Given the description of an element on the screen output the (x, y) to click on. 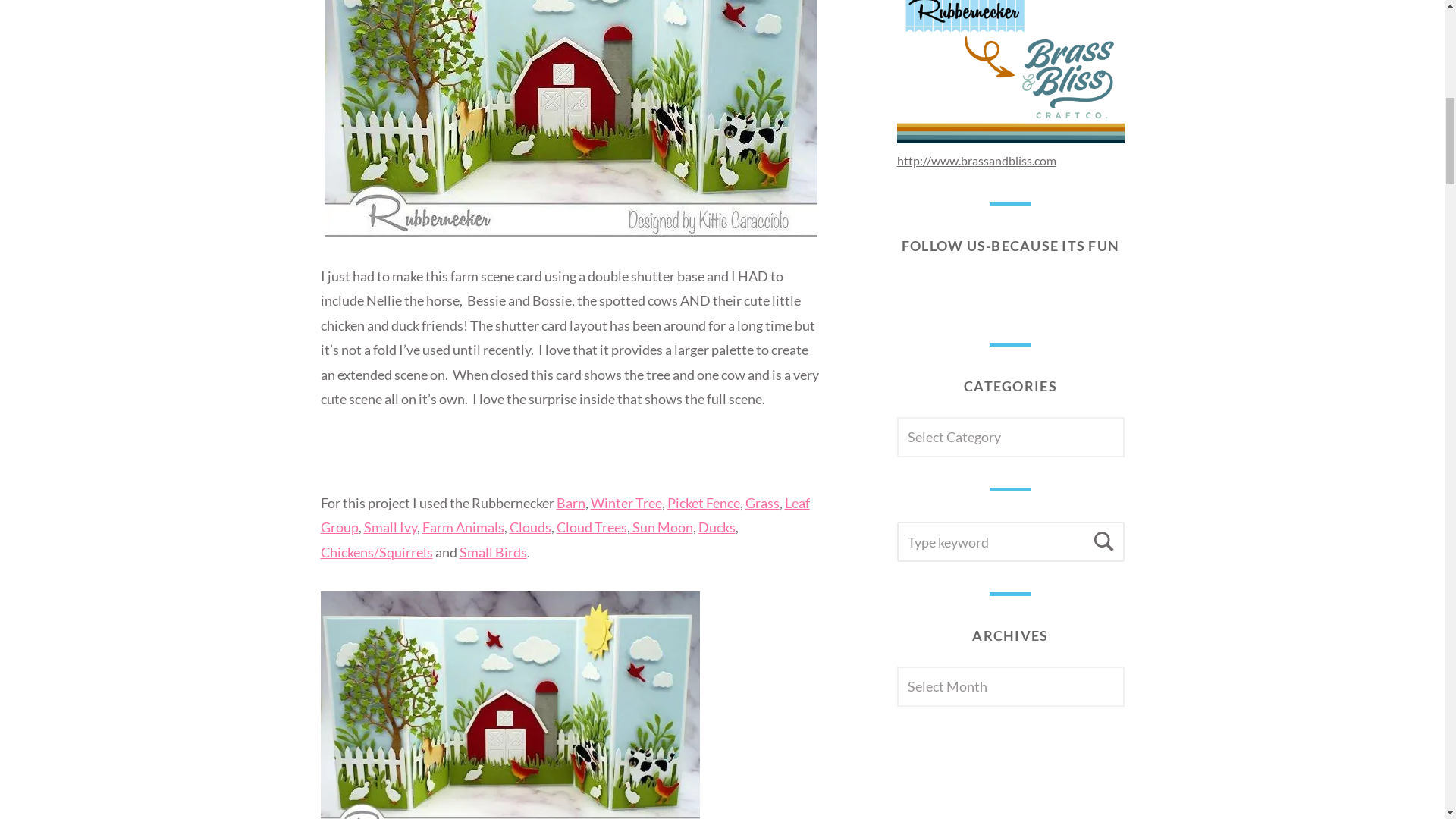
5142-03D Chicken Squirrels Die Set (376, 551)
Rubbernecker 5210-01D Cloud Tree (591, 526)
5142-02 Ducks Die (716, 526)
Rubbernecker 5147-07D Sun Moon (660, 526)
Farm Animals (462, 526)
5118D Leaf Group Die (564, 514)
Grass (761, 502)
Ducks (716, 526)
Clouds (530, 526)
Small Birds (493, 551)
